Given the description of an element on the screen output the (x, y) to click on. 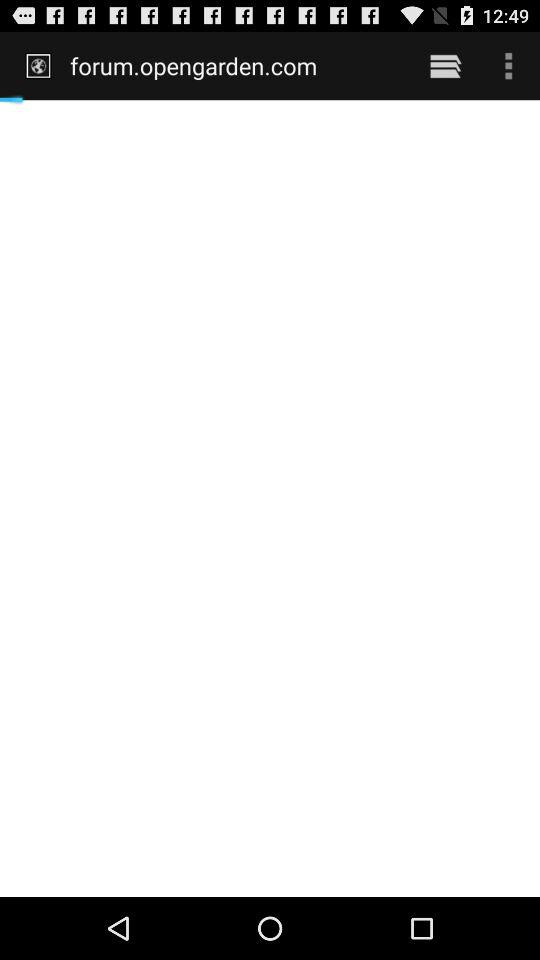
jump to forum.opengarden.com (235, 65)
